Given the description of an element on the screen output the (x, y) to click on. 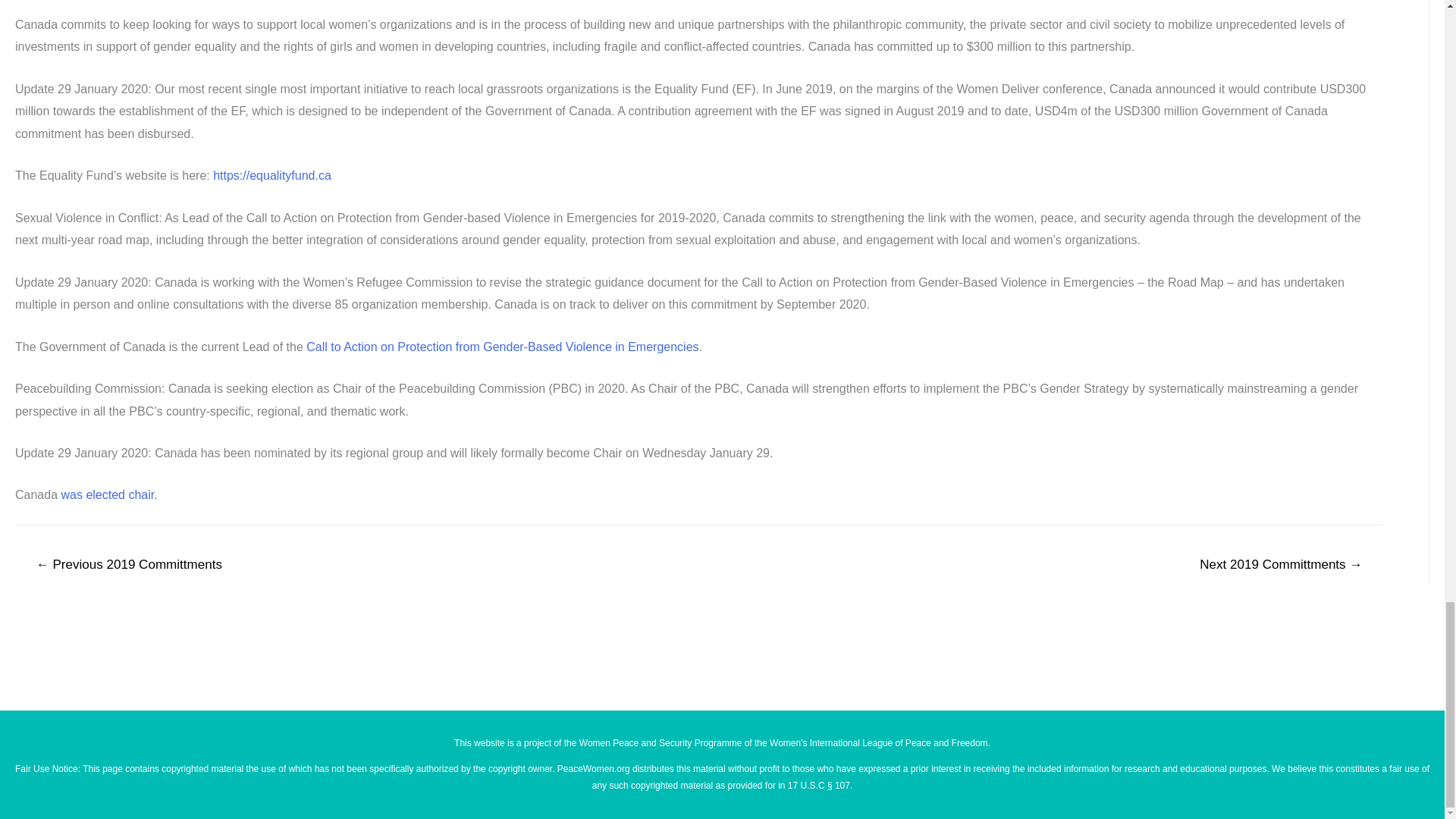
was elected chair (107, 494)
